Given the description of an element on the screen output the (x, y) to click on. 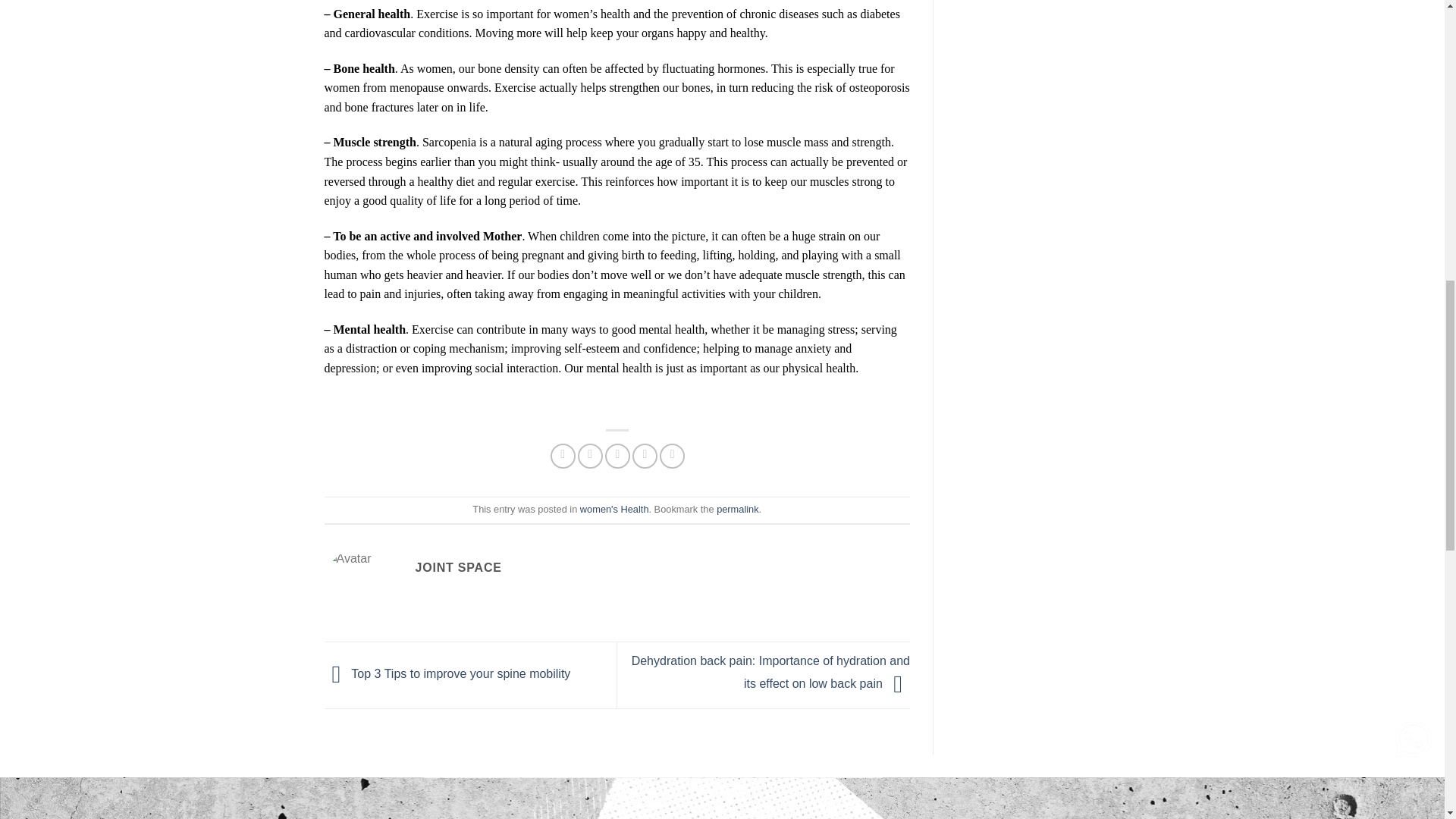
Share on Facebook (562, 455)
Share on Twitter (590, 455)
Top 3 Tips to improve your spine mobility (447, 674)
permalink (737, 509)
Pin on Pinterest (644, 455)
women's Health (614, 509)
Share on LinkedIn (671, 455)
Email to a Friend (617, 455)
